Given the description of an element on the screen output the (x, y) to click on. 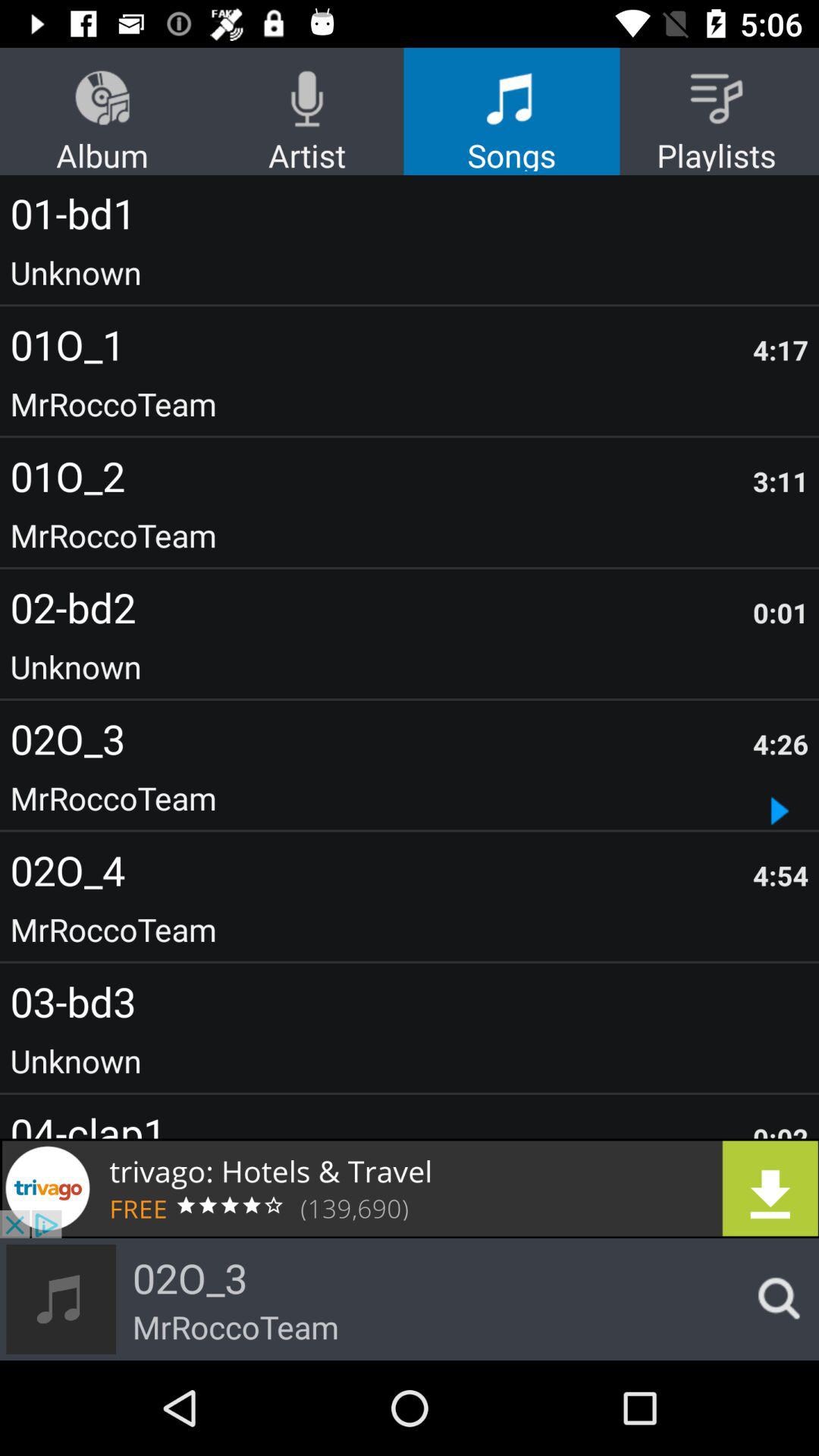
open system menu (773, 1298)
